Given the description of an element on the screen output the (x, y) to click on. 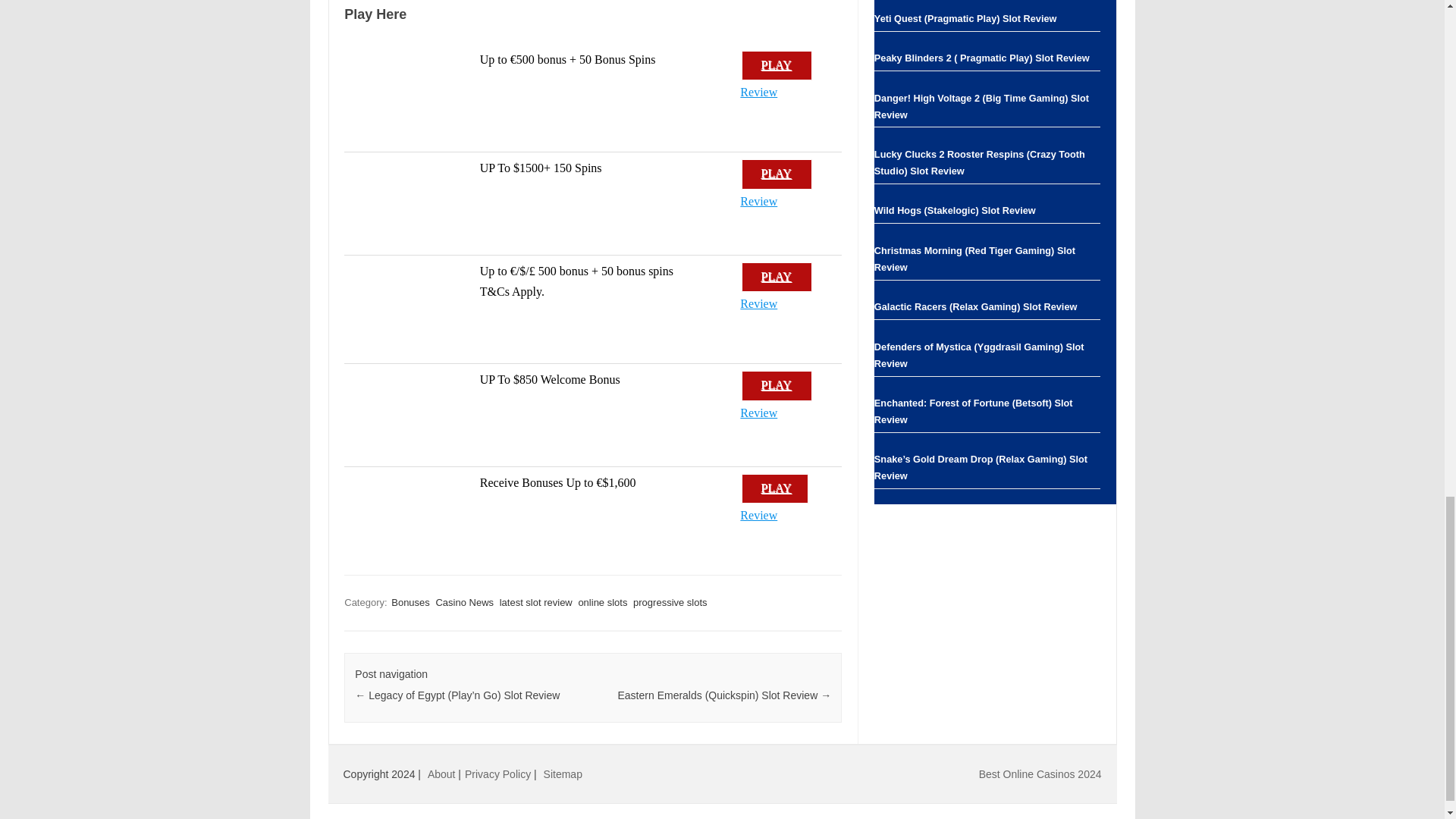
Review (758, 201)
Review (758, 412)
PLAY (775, 173)
Review (758, 514)
Review (758, 412)
Review (758, 91)
online slots (602, 602)
PLAY (775, 65)
Review (758, 303)
latest slot review (535, 602)
